Given the description of an element on the screen output the (x, y) to click on. 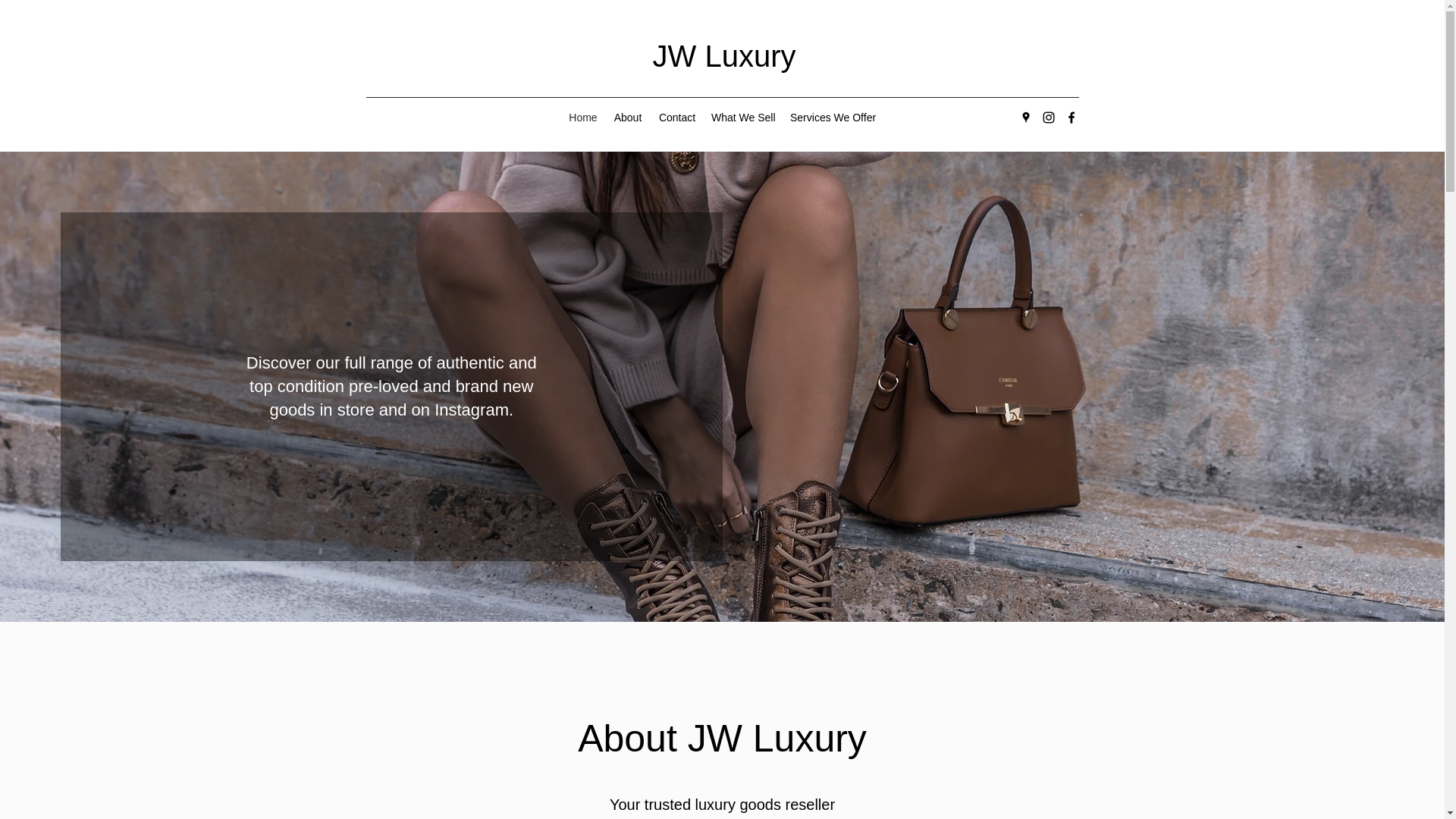
Contact (676, 117)
What We Sell (743, 117)
About (627, 117)
Home (582, 117)
Services We Offer (833, 117)
JW Luxury (724, 55)
